Given the description of an element on the screen output the (x, y) to click on. 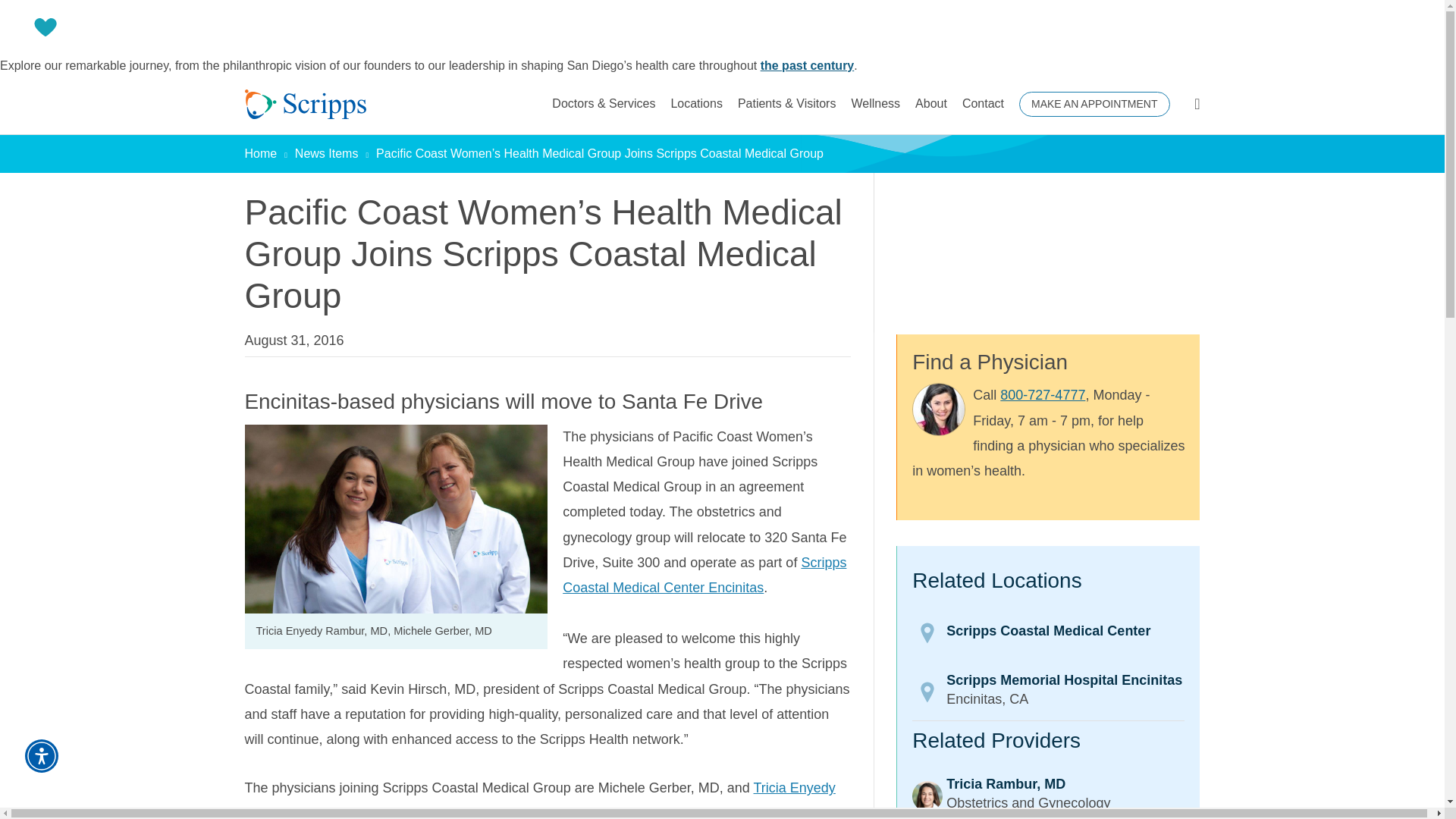
the past century (807, 65)
Locations (695, 104)
Wellness (874, 104)
Accessibility Menu (41, 756)
800-727-4777 (1042, 395)
